Given the description of an element on the screen output the (x, y) to click on. 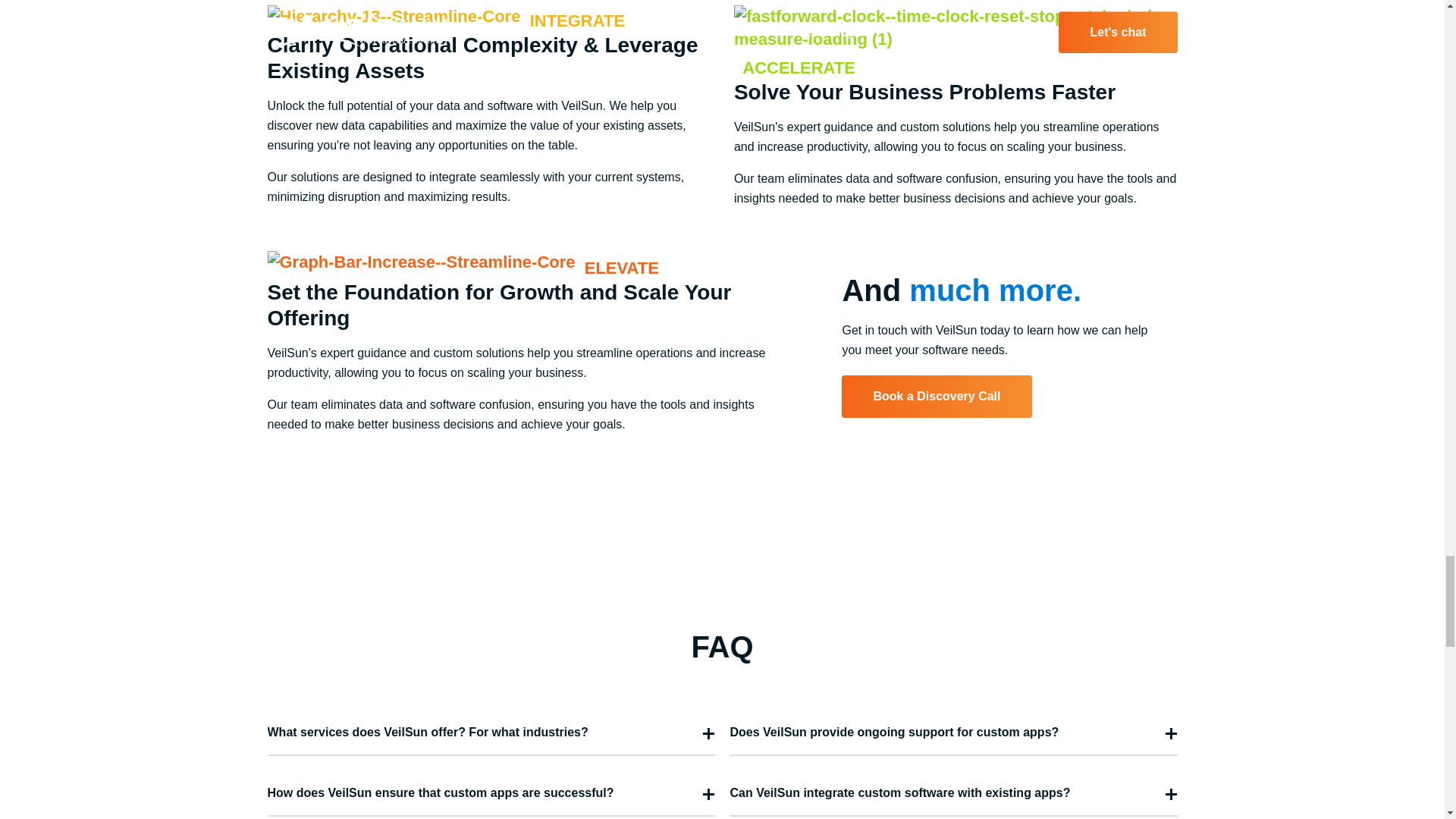
Button Book a Discovery Call (935, 396)
